Given the description of an element on the screen output the (x, y) to click on. 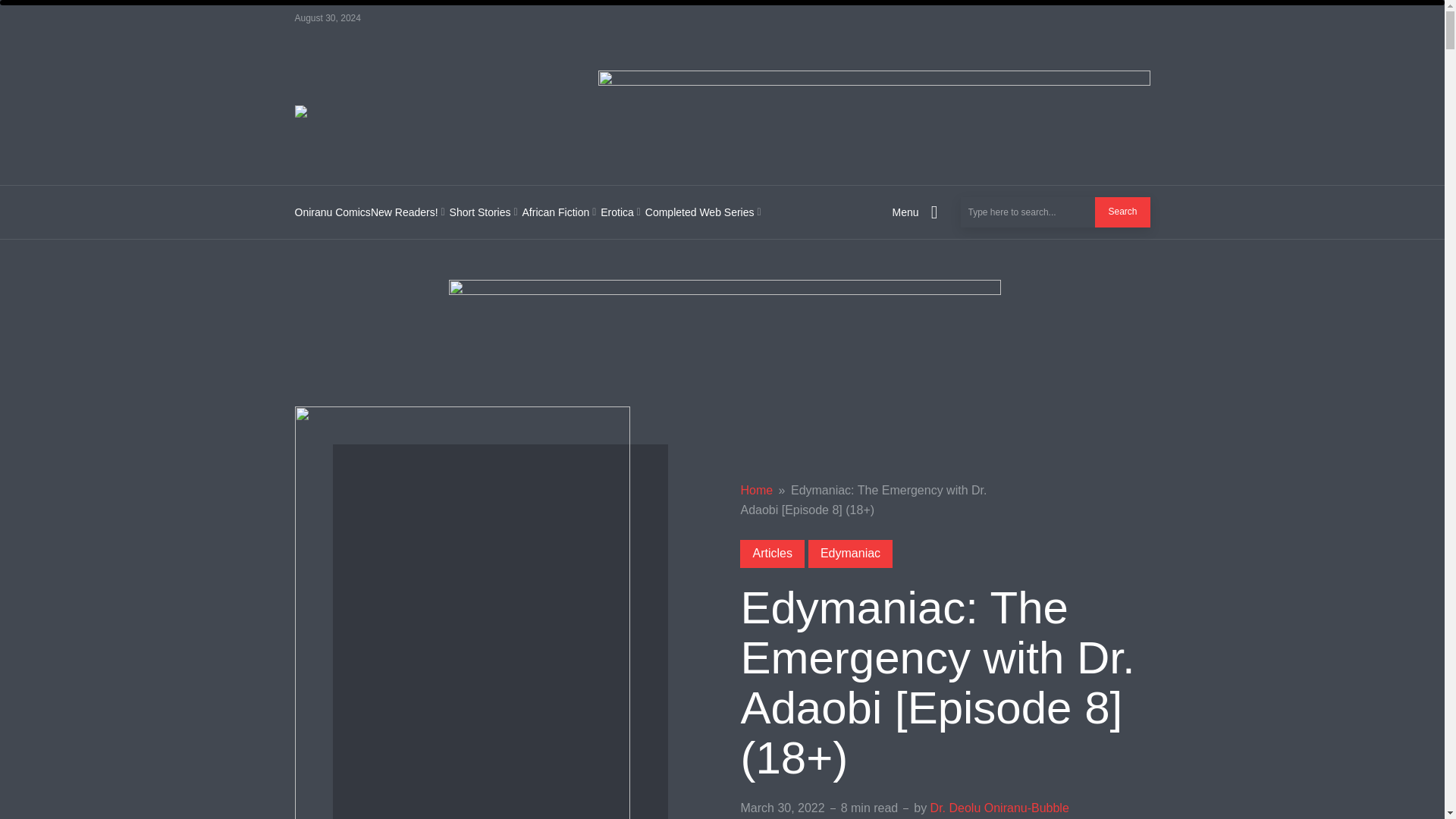
Oniranu Comics (331, 211)
Erotica (622, 211)
African Fiction (561, 211)
New Readers! (410, 211)
Short Stories (485, 211)
